Given the description of an element on the screen output the (x, y) to click on. 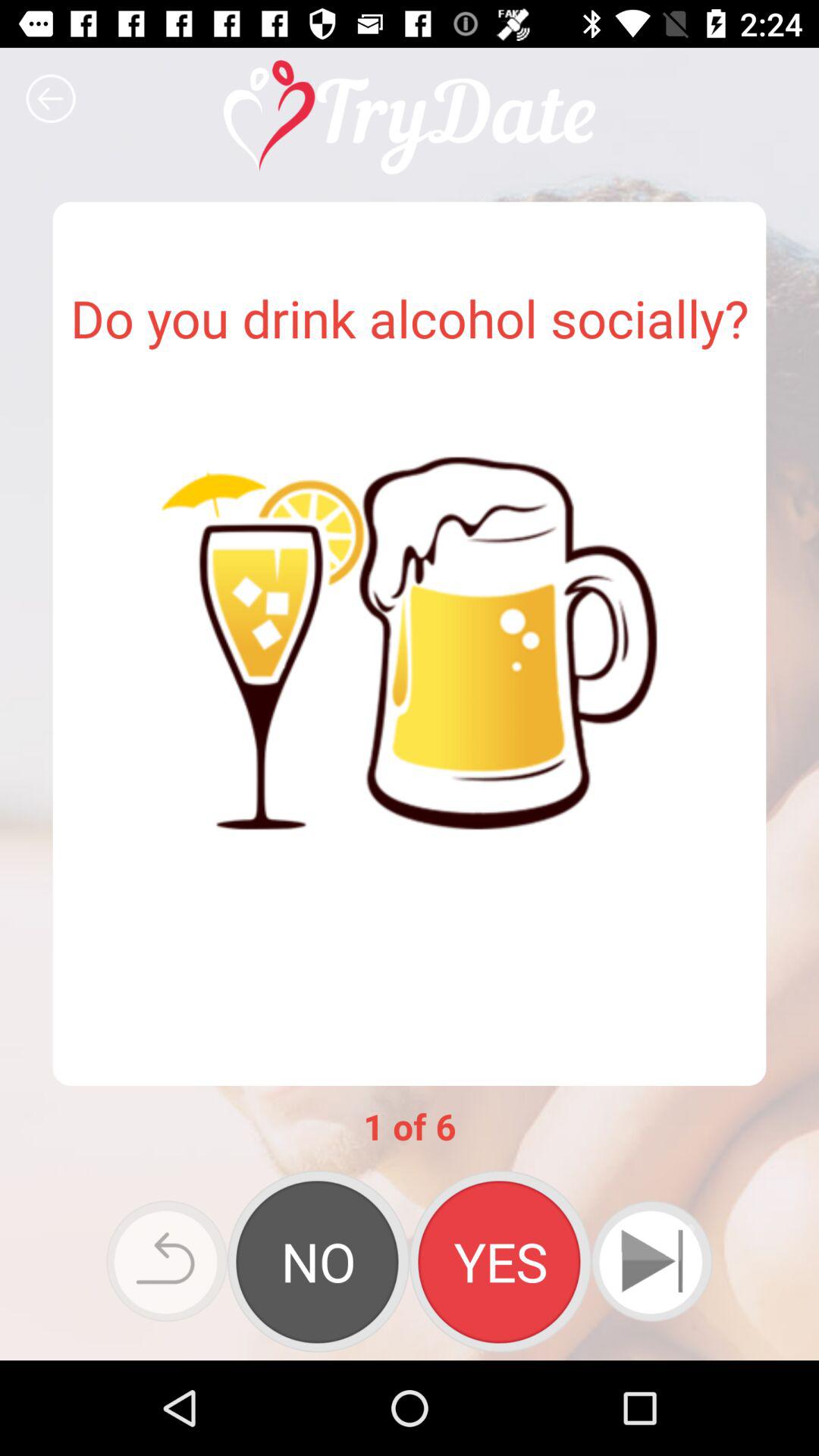
go back (166, 1260)
